Given the description of an element on the screen output the (x, y) to click on. 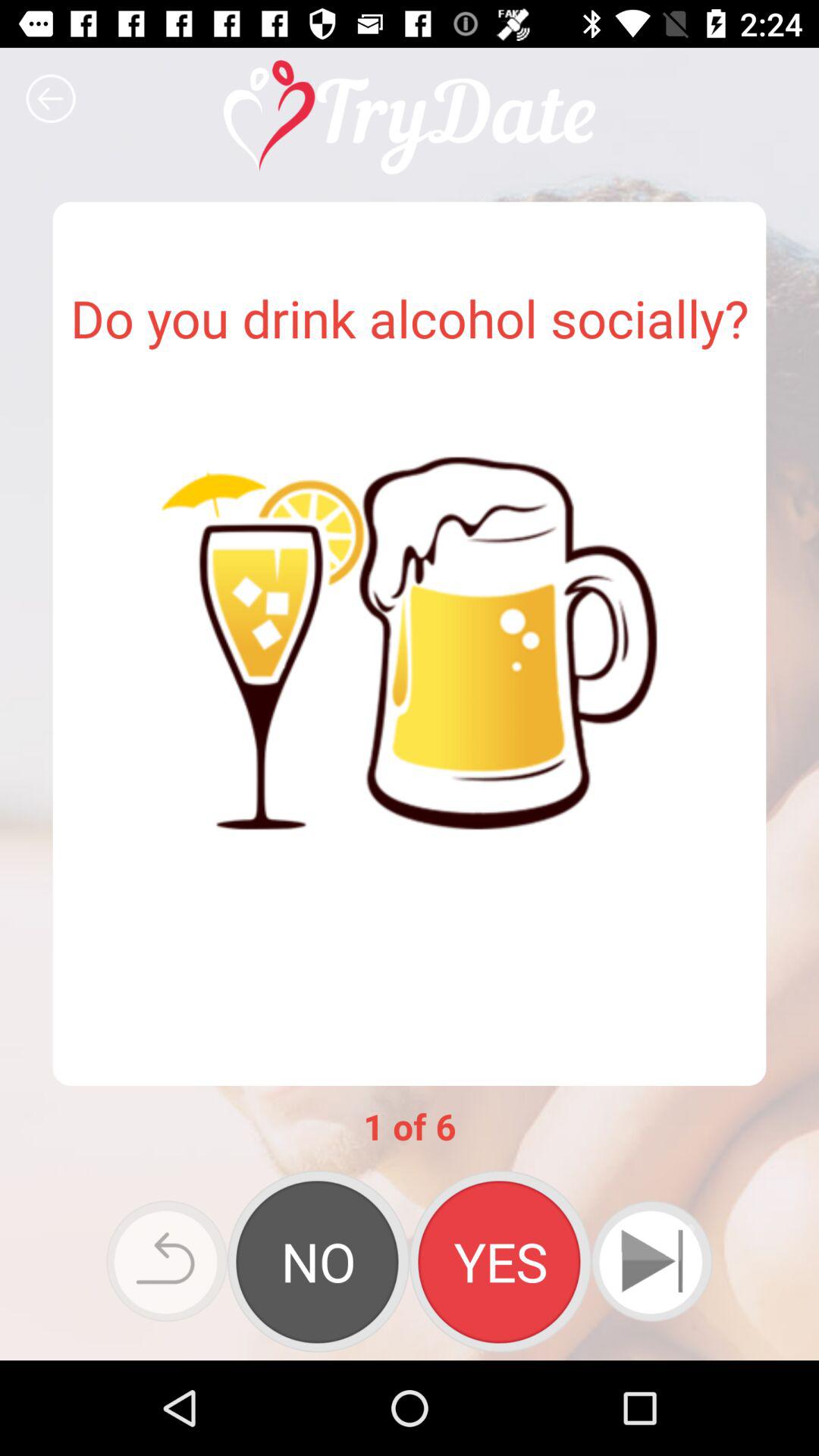
go back (166, 1260)
